Given the description of an element on the screen output the (x, y) to click on. 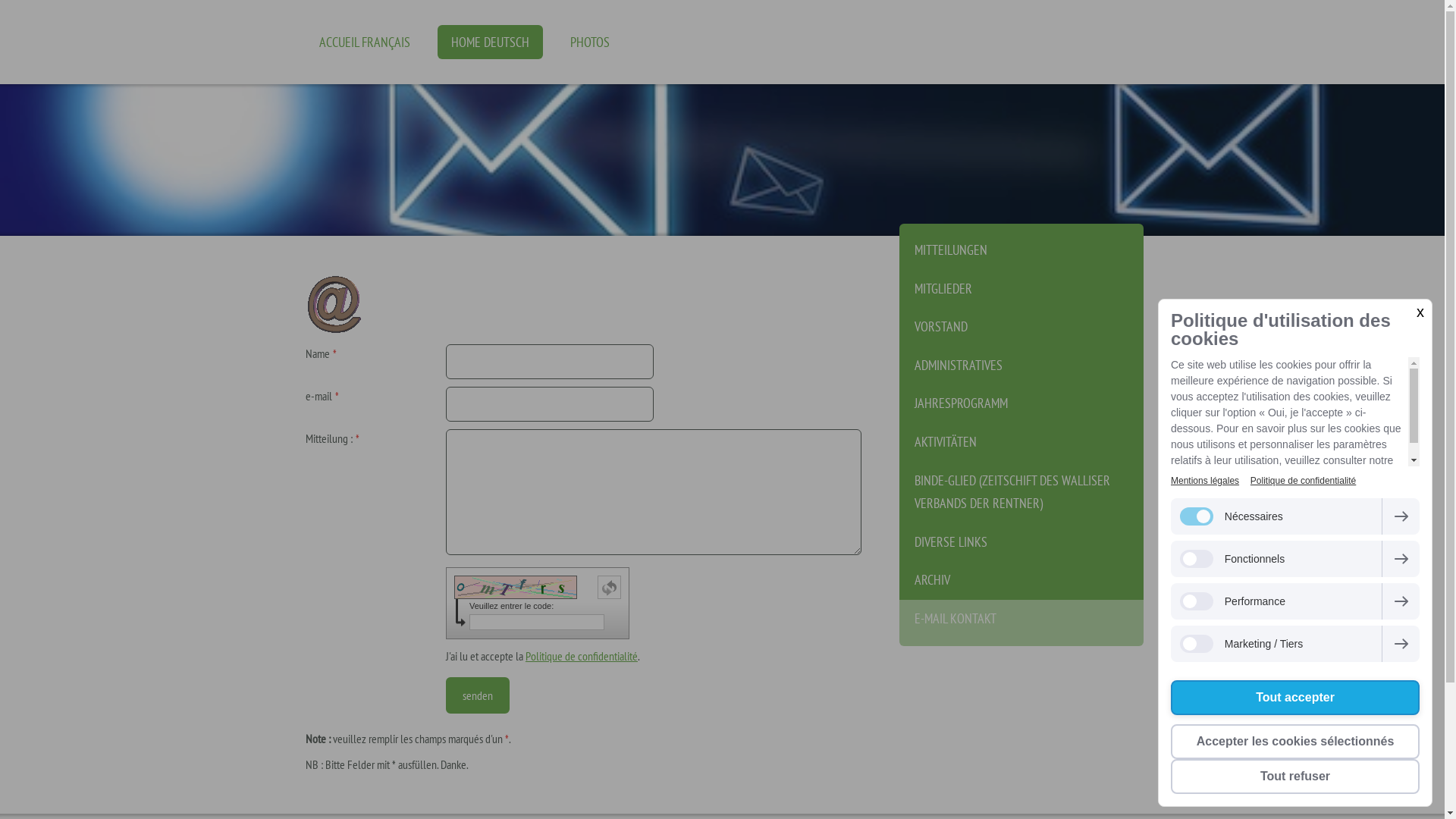
JAHRESPROGRAMM Element type: text (1021, 403)
E-MAIL KONTAKT Element type: text (1021, 622)
MITTEILUNGEN Element type: text (1021, 246)
BINDE-GLIED (ZEITSCHIFT DES WALLISER VERBANDS DER RENTNER) Element type: text (1021, 492)
Tout accepter Element type: text (1294, 697)
VORSTAND Element type: text (1021, 326)
MITGLIEDER Element type: text (1021, 288)
HOME DEUTSCH Element type: text (489, 42)
ADMINISTRATIVES Element type: text (1021, 365)
Tout refuser Element type: text (1294, 776)
PHOTOS Element type: text (589, 42)
ARCHIV Element type: text (1021, 580)
senden Element type: text (477, 695)
DIVERSE LINKS Element type: text (1021, 542)
